Given the description of an element on the screen output the (x, y) to click on. 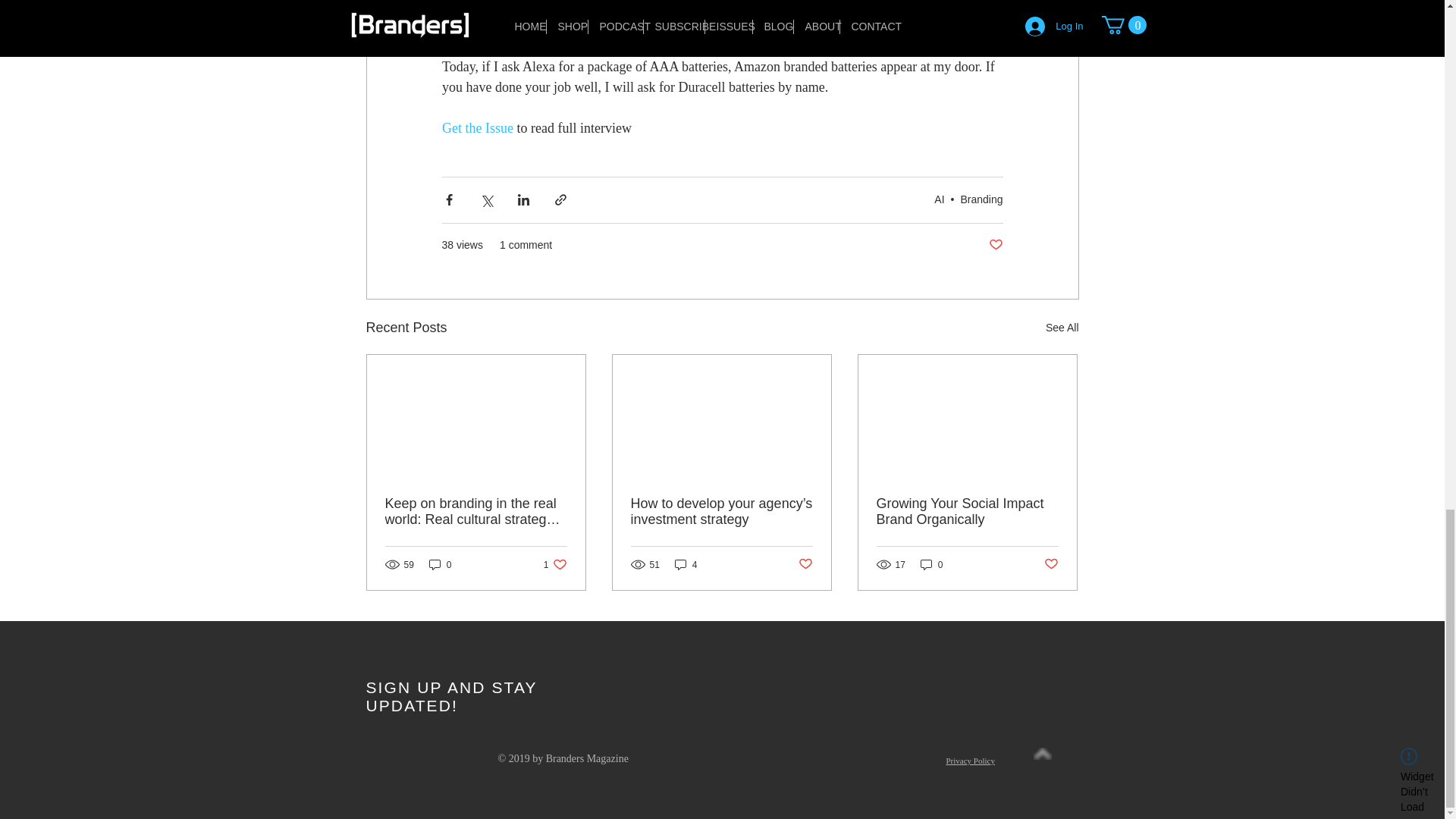
See All (1061, 327)
Get the Issue (476, 127)
Post not marked as liked (804, 564)
0 (440, 564)
4 (555, 564)
Post not marked as liked (685, 564)
Branding (995, 245)
